Given the description of an element on the screen output the (x, y) to click on. 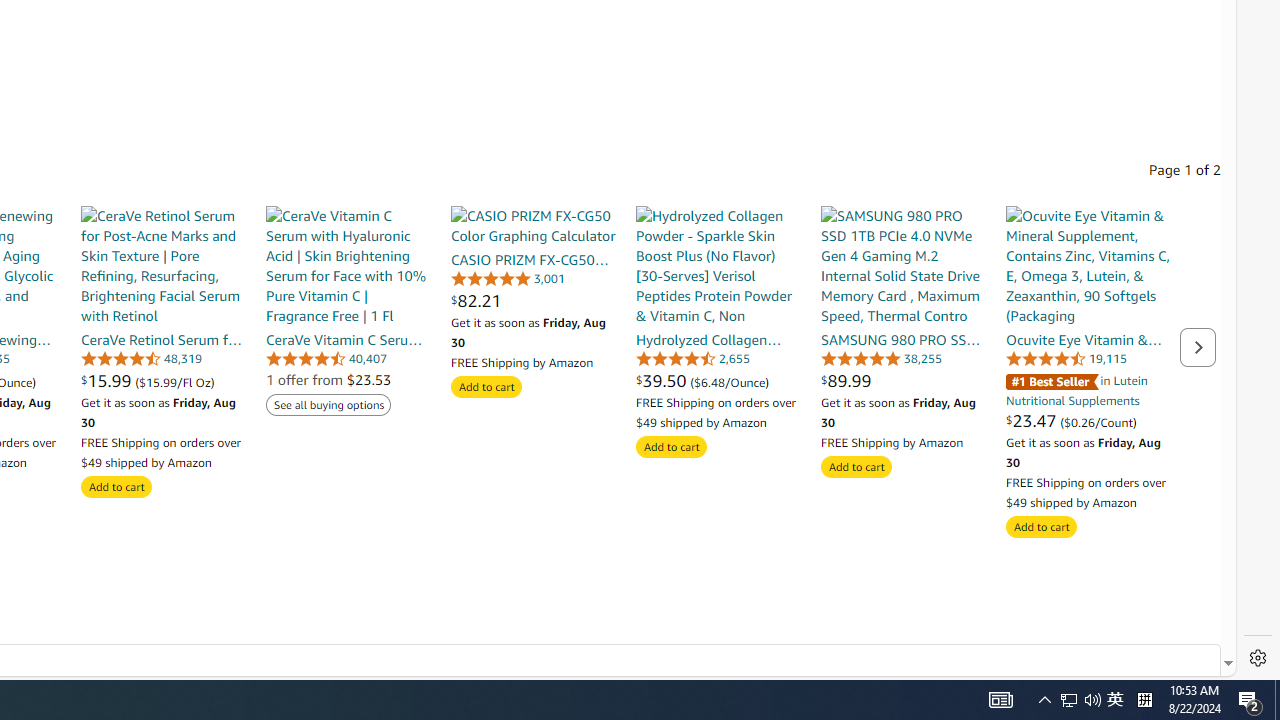
CASIO PRIZM FX-CG50 Color Graphing Calculator (532, 225)
$82.21 (532, 299)
($15.99/Fl Oz) (174, 381)
$15.99  (107, 379)
See all buying options (328, 405)
